Given the description of an element on the screen output the (x, y) to click on. 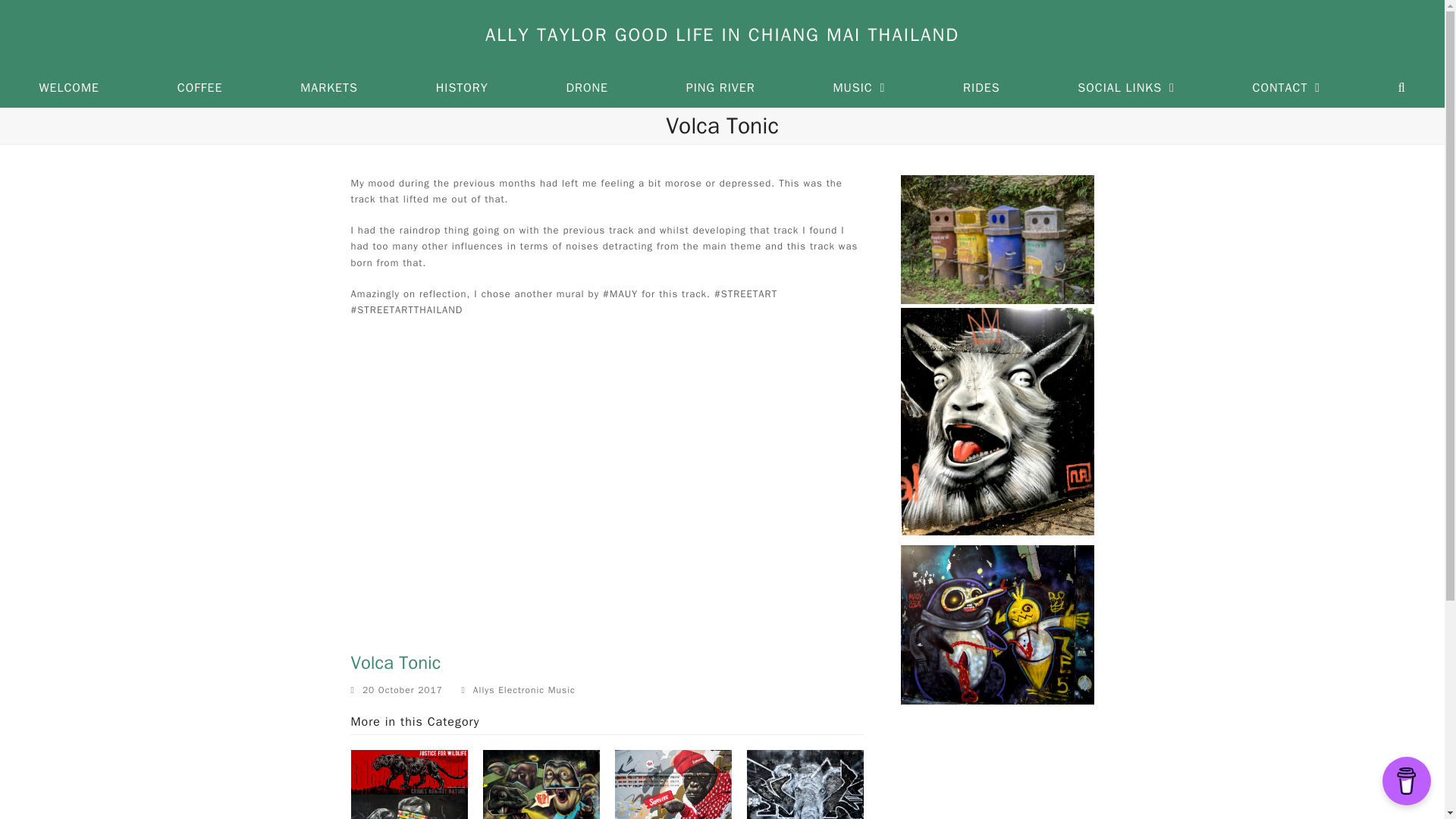
Apes on the Run (673, 787)
Mae Ya Waterfall end of rainy season (997, 237)
Bad Friday (997, 420)
PING RIVER (719, 88)
WELCOME (69, 88)
MUSIC (858, 88)
Allys Electronic Music (524, 690)
ALLY TAYLOR GOOD LIFE IN CHIANG MAI THAILAND (721, 34)
Darkside Arpeggio (997, 624)
SOCIAL LINKS (1125, 88)
